Given the description of an element on the screen output the (x, y) to click on. 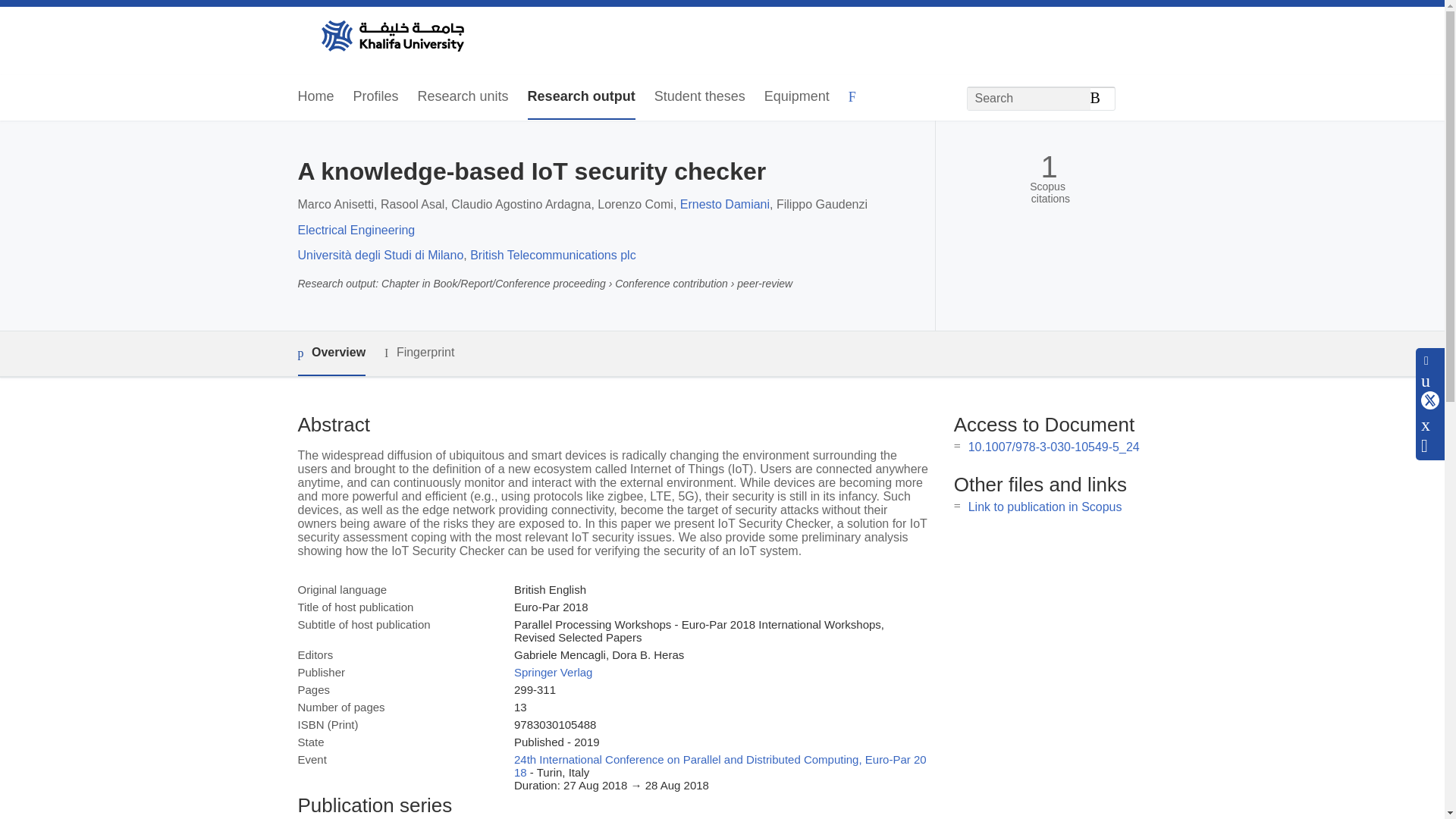
Ernesto Damiani (724, 204)
Overview (331, 353)
British Telecommunications plc (552, 254)
Research units (462, 97)
Springer Verlag (552, 671)
Student theses (699, 97)
Electrical Engineering (355, 229)
Equipment (796, 97)
